Given the description of an element on the screen output the (x, y) to click on. 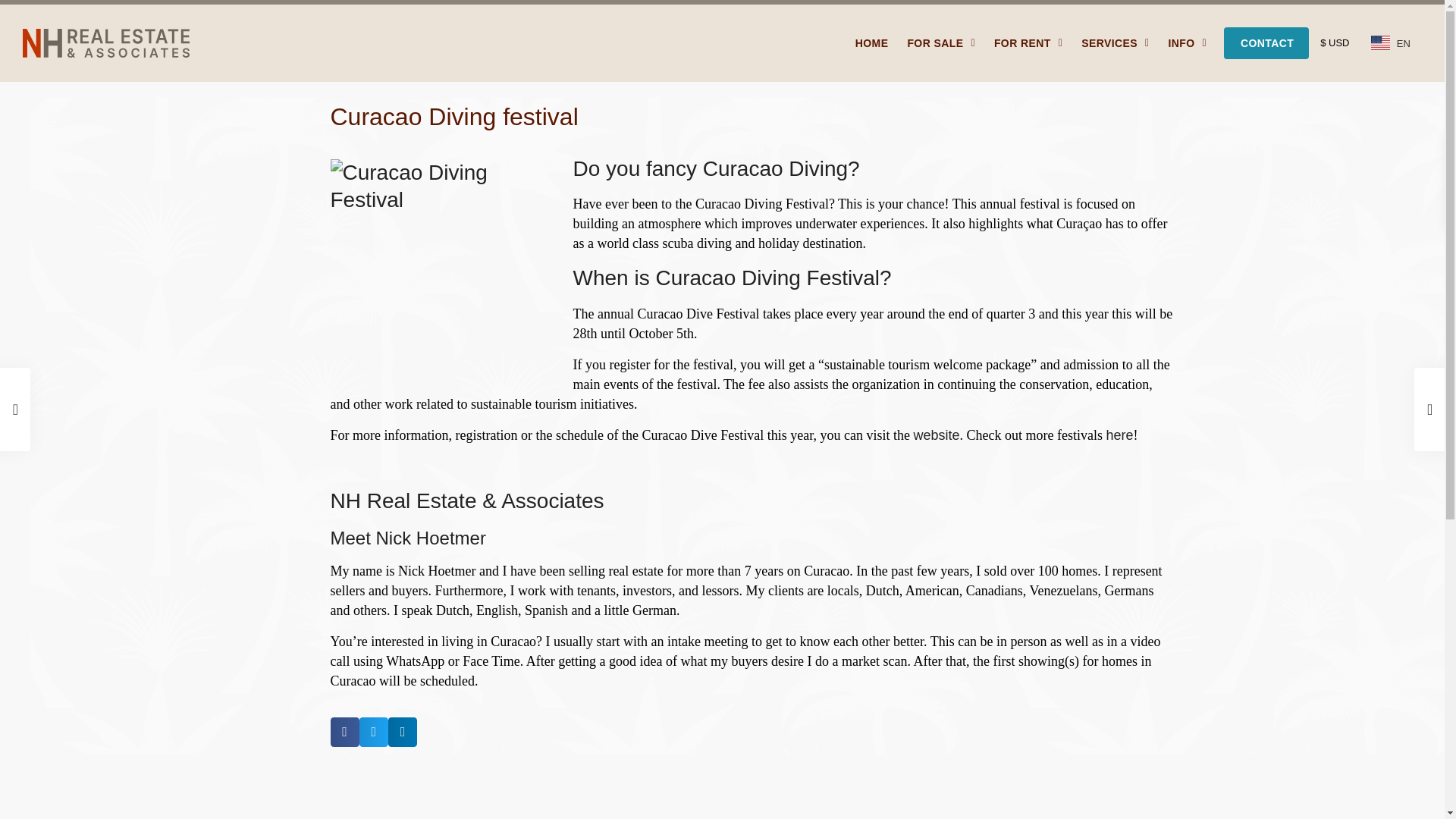
FOR RENT (1028, 42)
HOME (872, 42)
INFO (1187, 42)
SERVICES (1114, 42)
FOR SALE (941, 42)
